Given the description of an element on the screen output the (x, y) to click on. 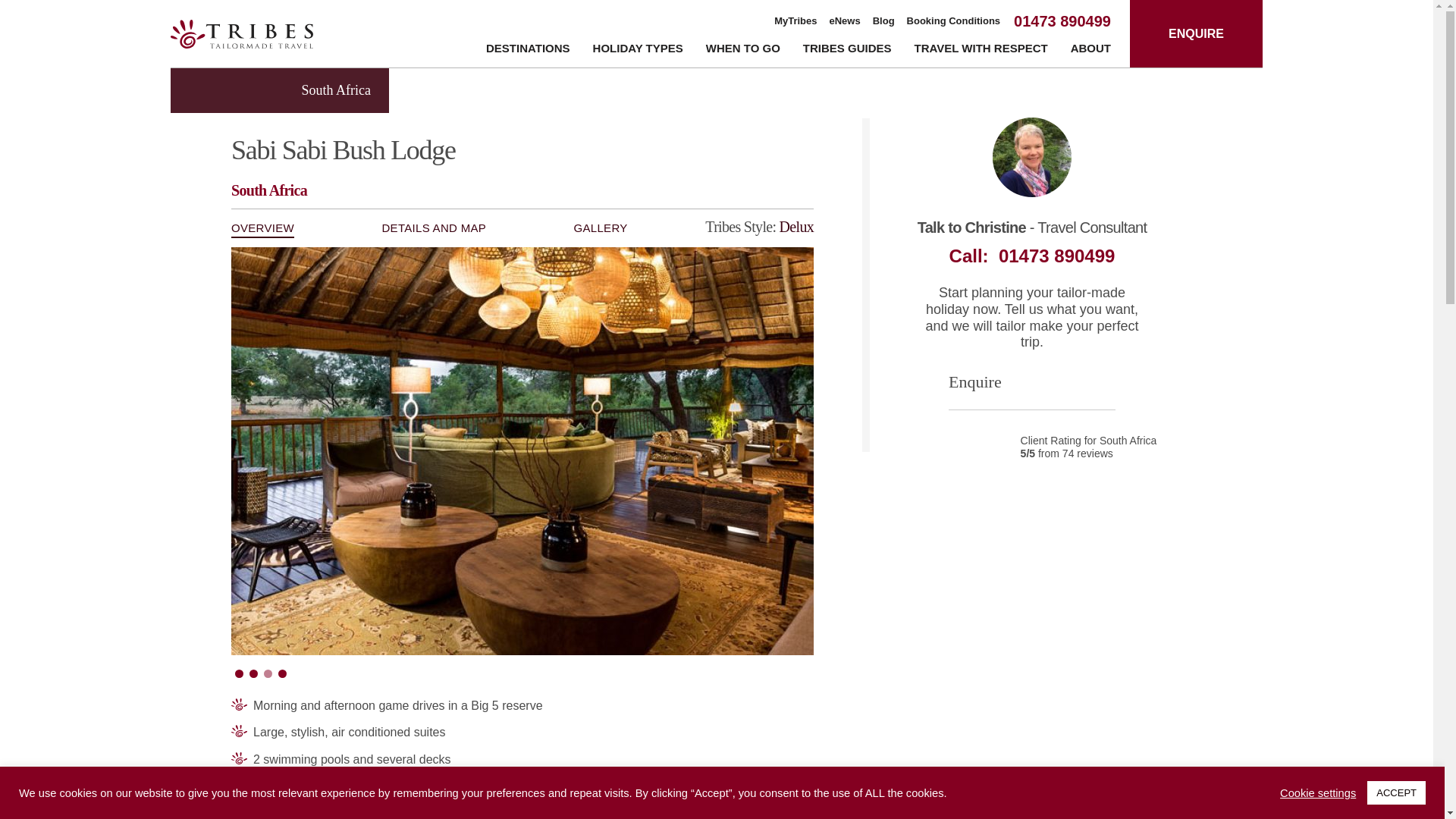
Destinations (528, 50)
ABOUT (1090, 50)
TRIBES GUIDES (847, 50)
Tribes (241, 33)
eNews (844, 21)
Booking Conditions (953, 21)
DESTINATIONS (528, 50)
MyTribes (795, 21)
WHEN TO GO (743, 50)
Blog (883, 21)
Tribes (241, 33)
TRAVEL WITH RESPECT (981, 50)
HOLIDAY TYPES (637, 50)
